Given the description of an element on the screen output the (x, y) to click on. 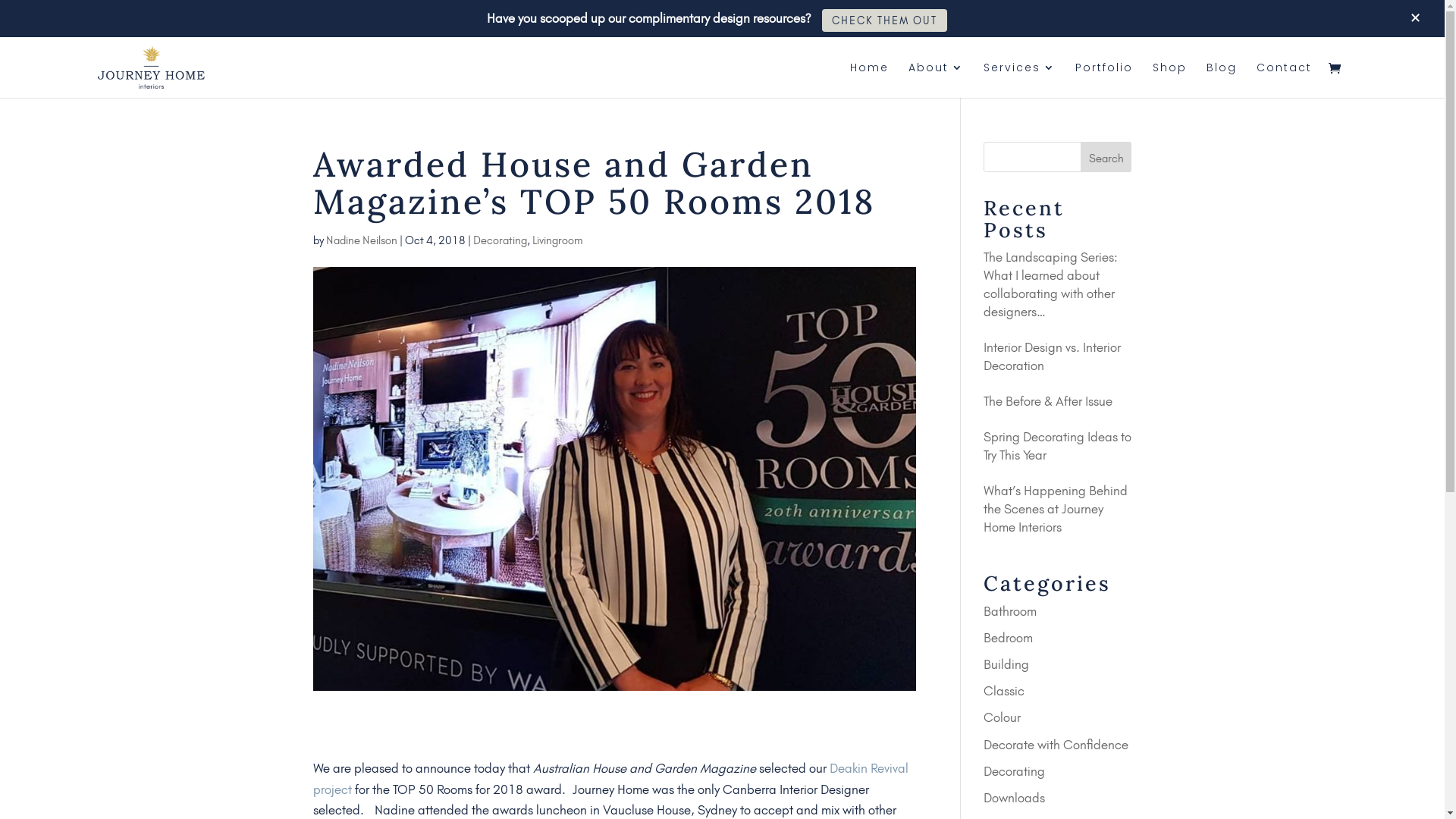
Shop Element type: text (1169, 79)
Home Element type: text (869, 79)
Search Element type: text (1106, 156)
The Before & After Issue Element type: text (1047, 400)
Livingroom Element type: text (557, 240)
Bathroom Element type: text (1009, 610)
Contact Element type: text (1283, 79)
Portfolio Element type: text (1103, 79)
Classic Element type: text (1003, 690)
Decorating Element type: text (1013, 770)
About Element type: text (935, 79)
Building Element type: text (1006, 663)
Services Element type: text (1019, 79)
Nadine Neilson Element type: text (361, 240)
Decorating Element type: text (500, 240)
Colour Element type: text (1001, 716)
Bedroom Element type: text (1007, 637)
Deakin Revival project Element type: text (609, 778)
Spring Decorating Ideas to Try This Year Element type: text (1057, 445)
Downloads Element type: text (1013, 797)
CHECK THEM OUT Element type: text (884, 20)
Blog Element type: text (1221, 79)
Decorate with Confidence Element type: text (1055, 744)
Interior Design vs. Interior Decoration Element type: text (1051, 356)
